Given the description of an element on the screen output the (x, y) to click on. 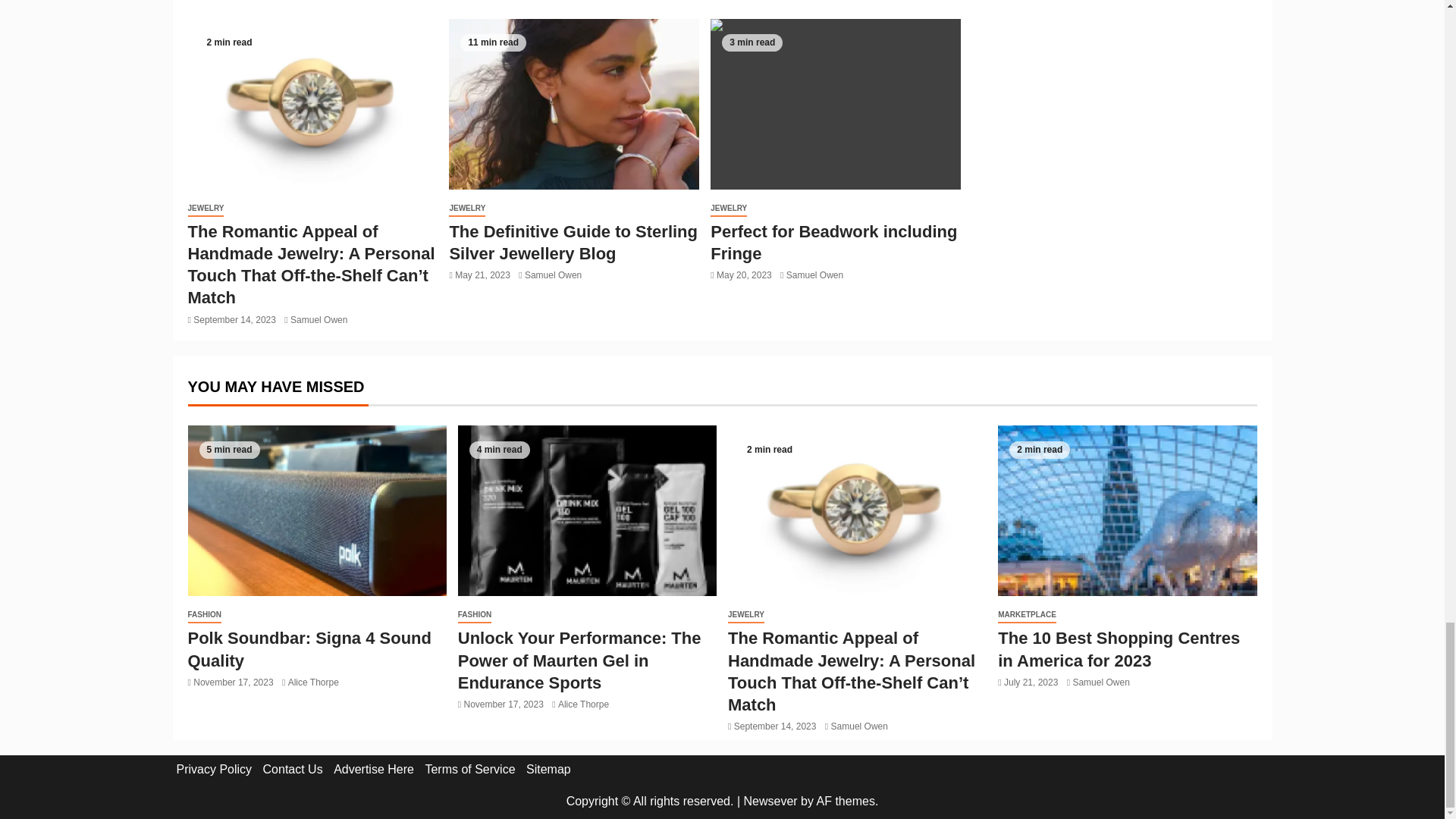
JEWELRY (728, 208)
The Definitive Guide to Sterling Silver Jewellery Blog (572, 241)
Samuel Owen (552, 275)
JEWELRY (205, 208)
The Definitive Guide to Sterling Silver Jewellery Blog (573, 103)
Samuel Owen (318, 319)
Perfect for Beadwork including Fringe (835, 103)
JEWELRY (466, 208)
